Given the description of an element on the screen output the (x, y) to click on. 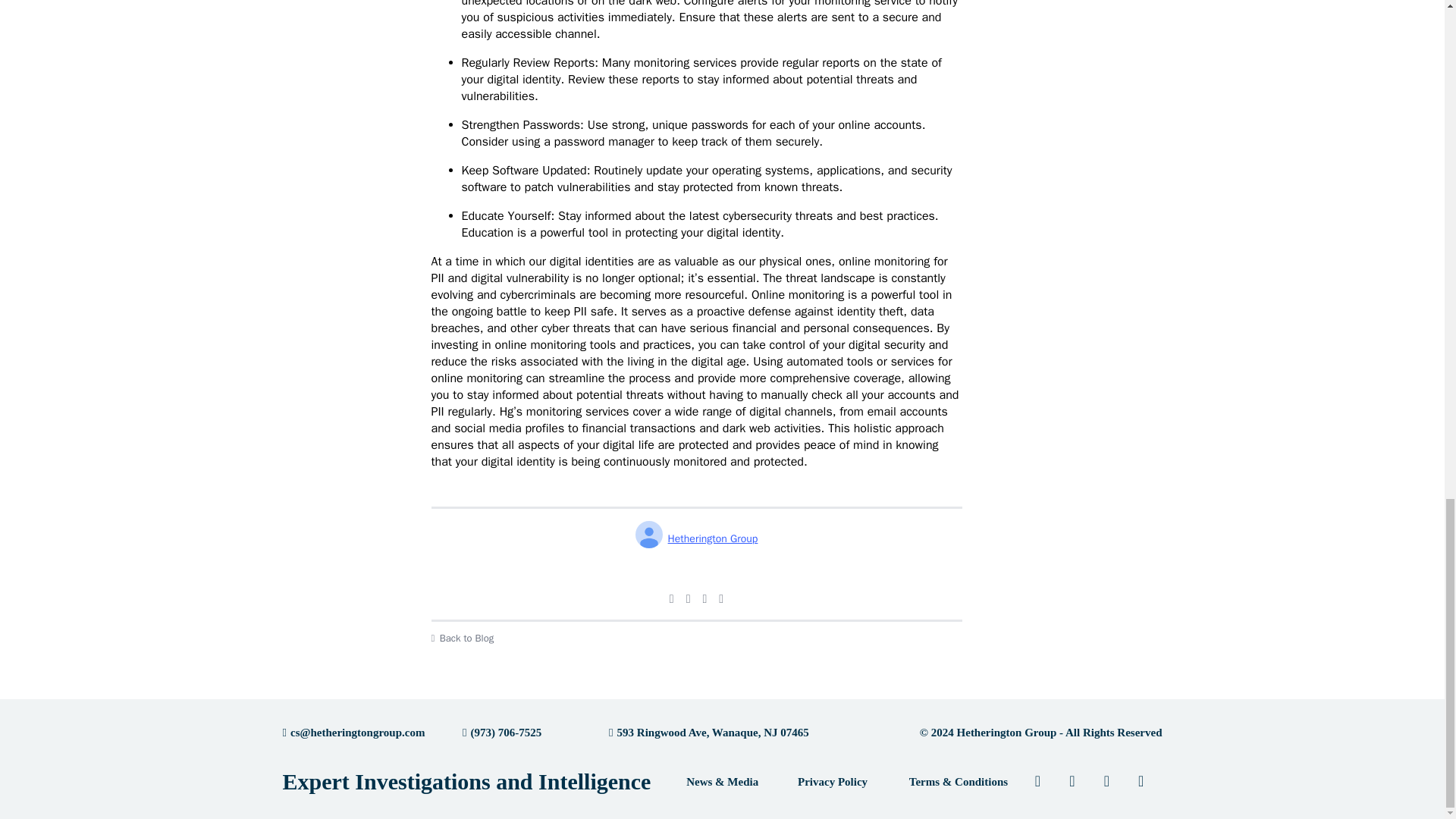
Privacy Policy (831, 781)
Hetherington Group (696, 538)
Back to Blog (695, 638)
